Given the description of an element on the screen output the (x, y) to click on. 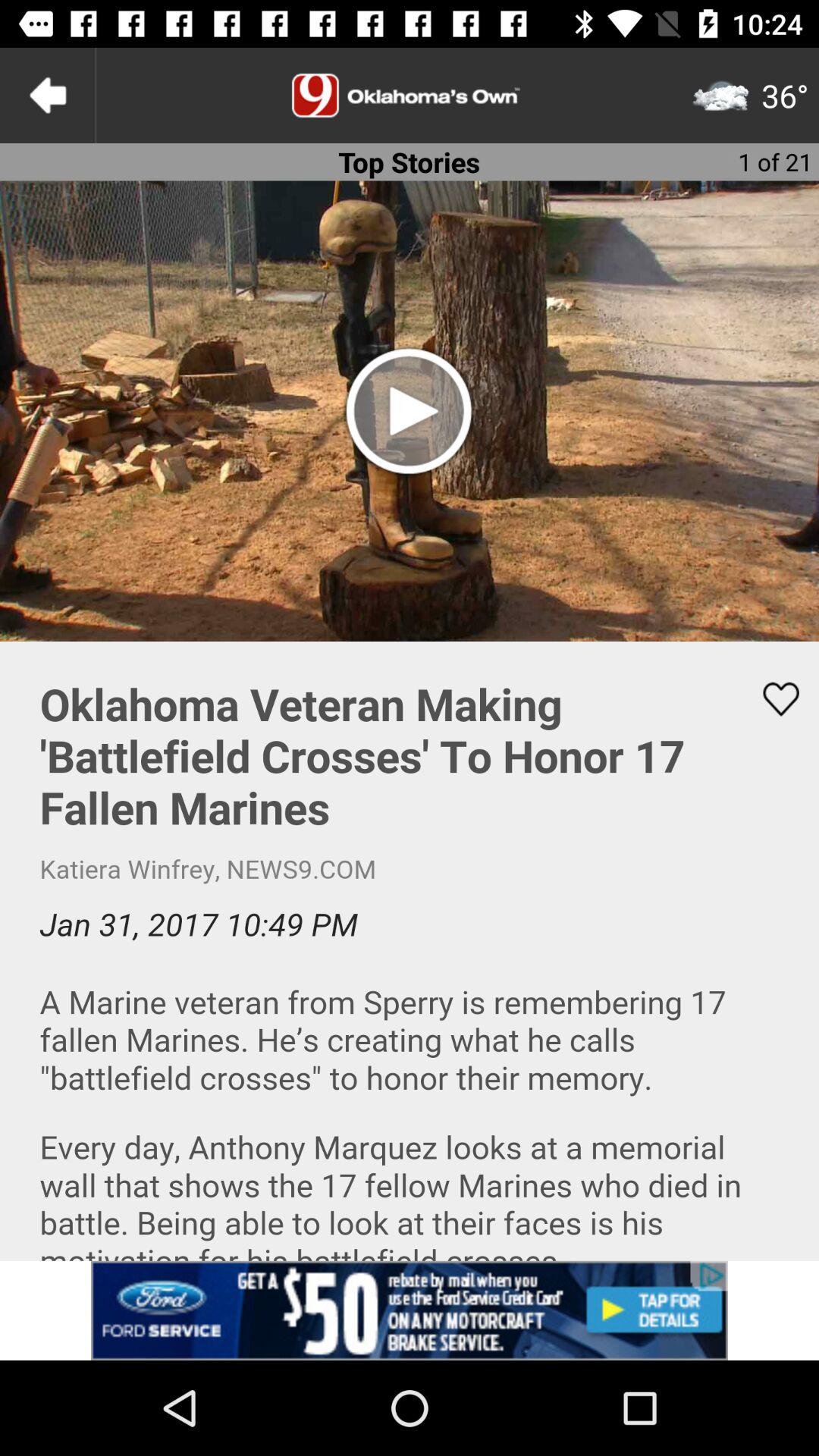
go back (47, 95)
